Given the description of an element on the screen output the (x, y) to click on. 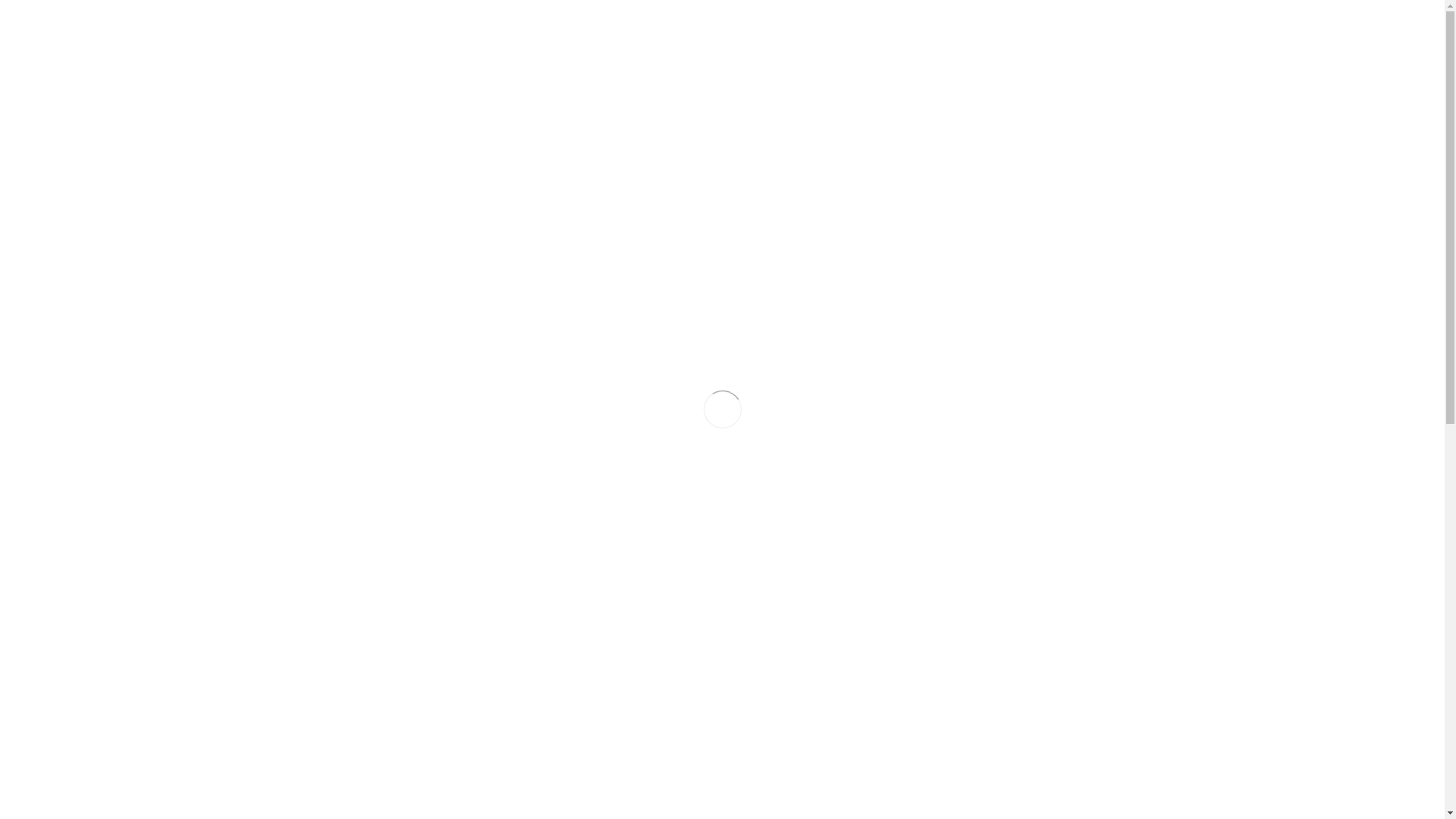
Trailcraft 595 Centre Cab 2004 Model Element type: text (426, 403)
NEW POWER Element type: text (750, 43)
Home Element type: text (303, 102)
Trailcraft 595 Centre Cab 2004 Model Element type: text (426, 638)
NEWS Element type: text (1064, 43)
HOME Element type: text (691, 43)
NEW SAIL BOATS Element type: text (840, 43)
Trailcraft 595 Centre Cab 2004 Model Element type: text (721, 638)
USED BOATS Element type: text (935, 43)
CONTACT US Element type: text (1127, 43)
Trailcraft 595 Centre Cab 2004 Model Element type: text (1017, 403)
ABOUT US Element type: text (1006, 43)
Trailcraft 595 Centre Cab 2004 Model Element type: text (1017, 638)
Trailcraft 595 Centre Cab 2004 Model Element type: text (721, 403)
